Given the description of an element on the screen output the (x, y) to click on. 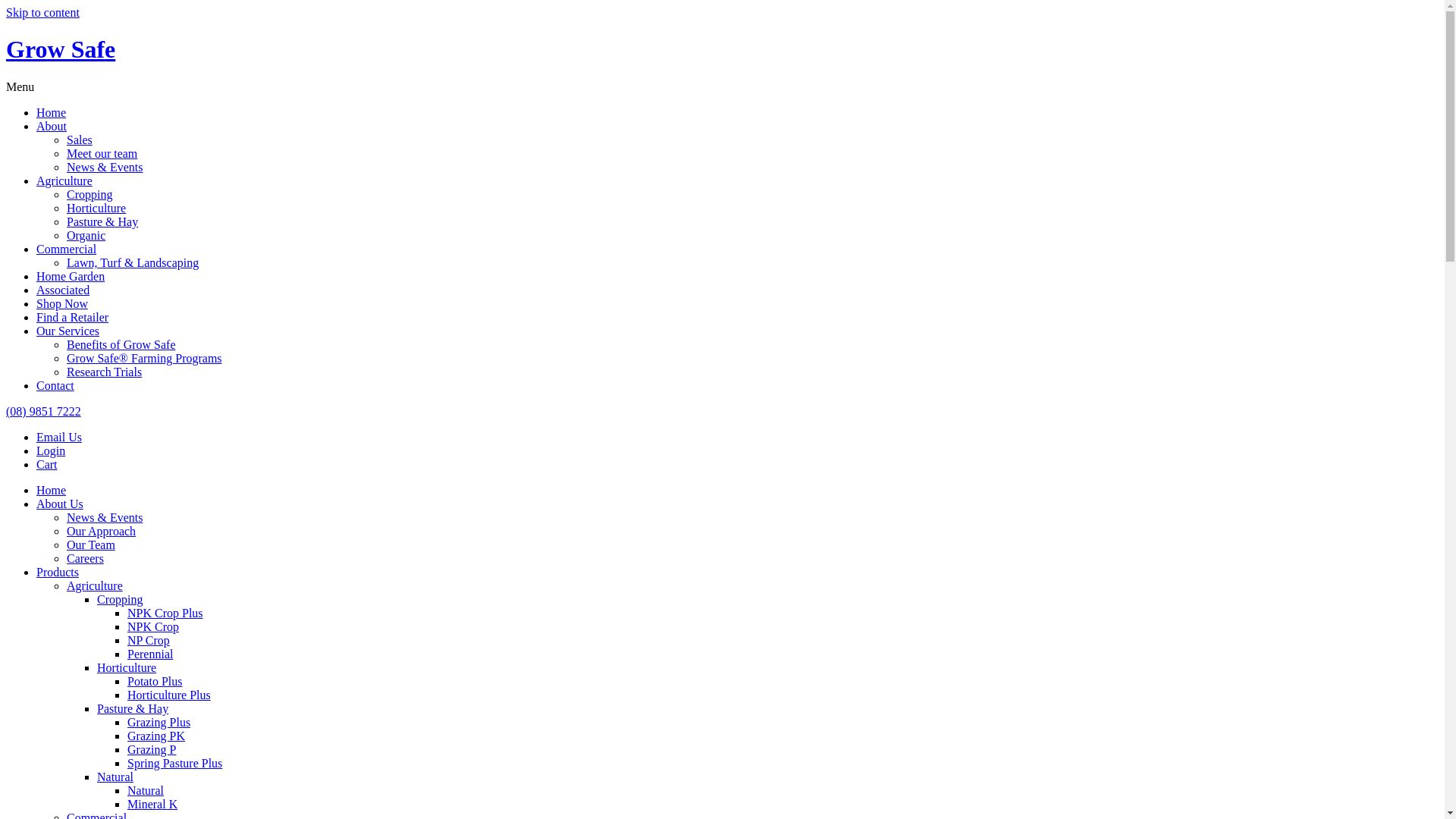
Pasture & Hay Element type: text (102, 221)
Meet our team Element type: text (101, 153)
Products Element type: text (57, 571)
Associated Element type: text (62, 289)
Natural Element type: text (115, 776)
Home Element type: text (50, 112)
Perennial Element type: text (149, 653)
NPK Crop Element type: text (152, 626)
Home Garden Element type: text (70, 275)
Organic Element type: text (85, 235)
NPK Crop Plus Element type: text (165, 612)
Sales Element type: text (79, 139)
Email Us Element type: text (58, 436)
Careers Element type: text (84, 558)
Grow Safe Element type: text (60, 48)
Shop Now Element type: text (61, 303)
Find a Retailer Element type: text (72, 316)
Grazing PK Element type: text (156, 735)
Our Team Element type: text (90, 544)
Cart Element type: text (46, 464)
Commercial Element type: text (66, 248)
Our Services Element type: text (67, 330)
Pasture & Hay Element type: text (132, 708)
Agriculture Element type: text (64, 180)
Horticulture Plus Element type: text (168, 694)
Our Approach Element type: text (100, 530)
Home Element type: text (50, 489)
Contact Element type: text (55, 385)
Lawn, Turf & Landscaping Element type: text (132, 262)
Horticulture Element type: text (126, 667)
Horticulture Element type: text (95, 207)
Potato Plus Element type: text (154, 680)
Cropping Element type: text (89, 194)
About Element type: text (51, 125)
Research Trials Element type: text (103, 371)
News & Events Element type: text (104, 166)
Benefits of Grow Safe Element type: text (120, 344)
Agriculture Element type: text (94, 585)
NP Crop Element type: text (148, 639)
Grazing P Element type: text (151, 749)
(08) 9851 7222 Element type: text (43, 410)
Skip to content Element type: text (42, 12)
Spring Pasture Plus Element type: text (174, 762)
About Us Element type: text (59, 503)
Natural Element type: text (145, 790)
News & Events Element type: text (104, 517)
Grazing Plus Element type: text (158, 721)
Cropping Element type: text (119, 599)
Mineral K Element type: text (152, 803)
Login Element type: text (50, 450)
